Given the description of an element on the screen output the (x, y) to click on. 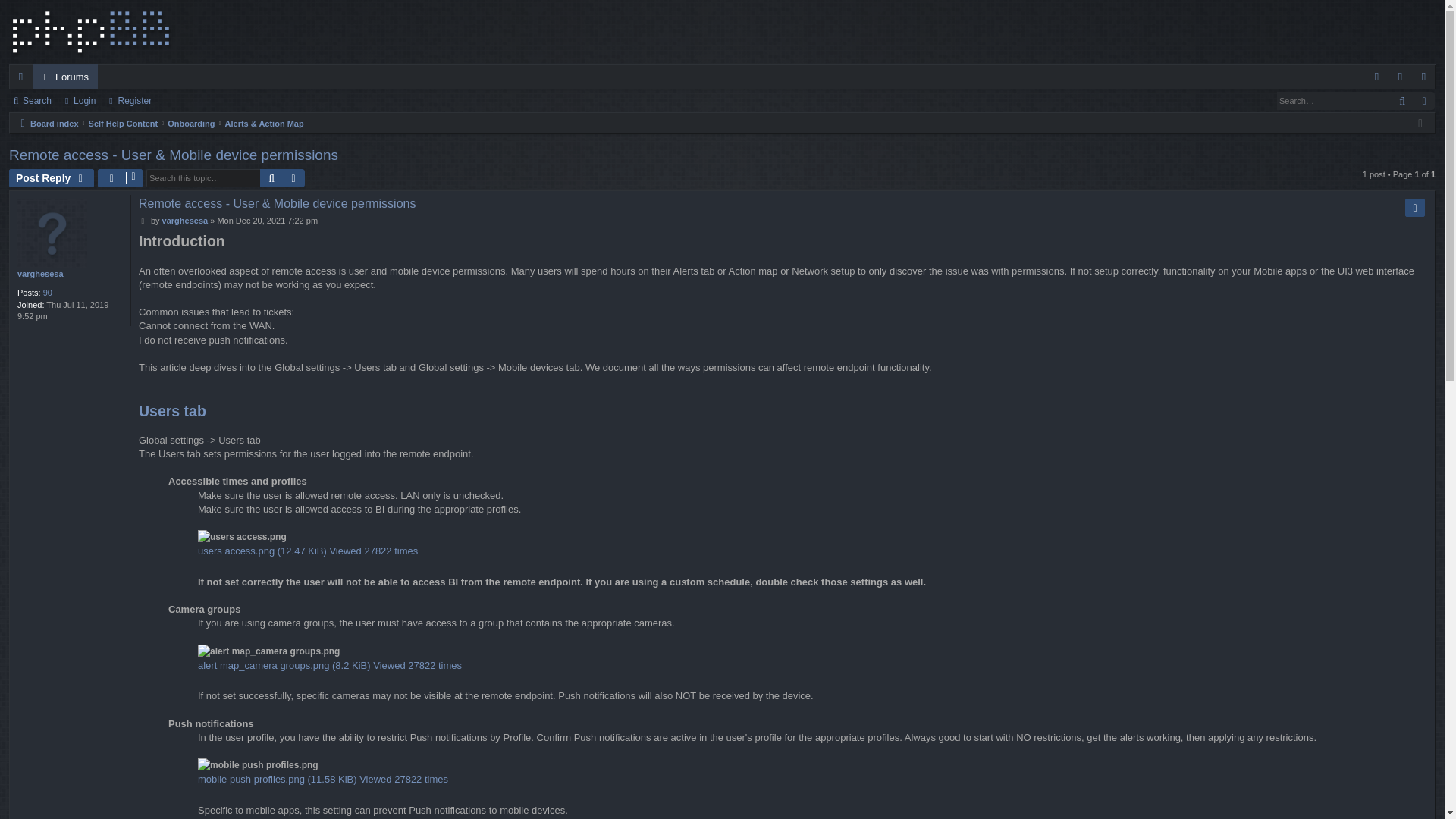
Advanced search (293, 177)
Search for keywords (1333, 100)
Search (33, 100)
Search (271, 177)
varghesesa (40, 274)
Self Help Content (123, 123)
Register (131, 100)
Quote (1415, 208)
Post Reply (51, 177)
Login (1400, 76)
